Given the description of an element on the screen output the (x, y) to click on. 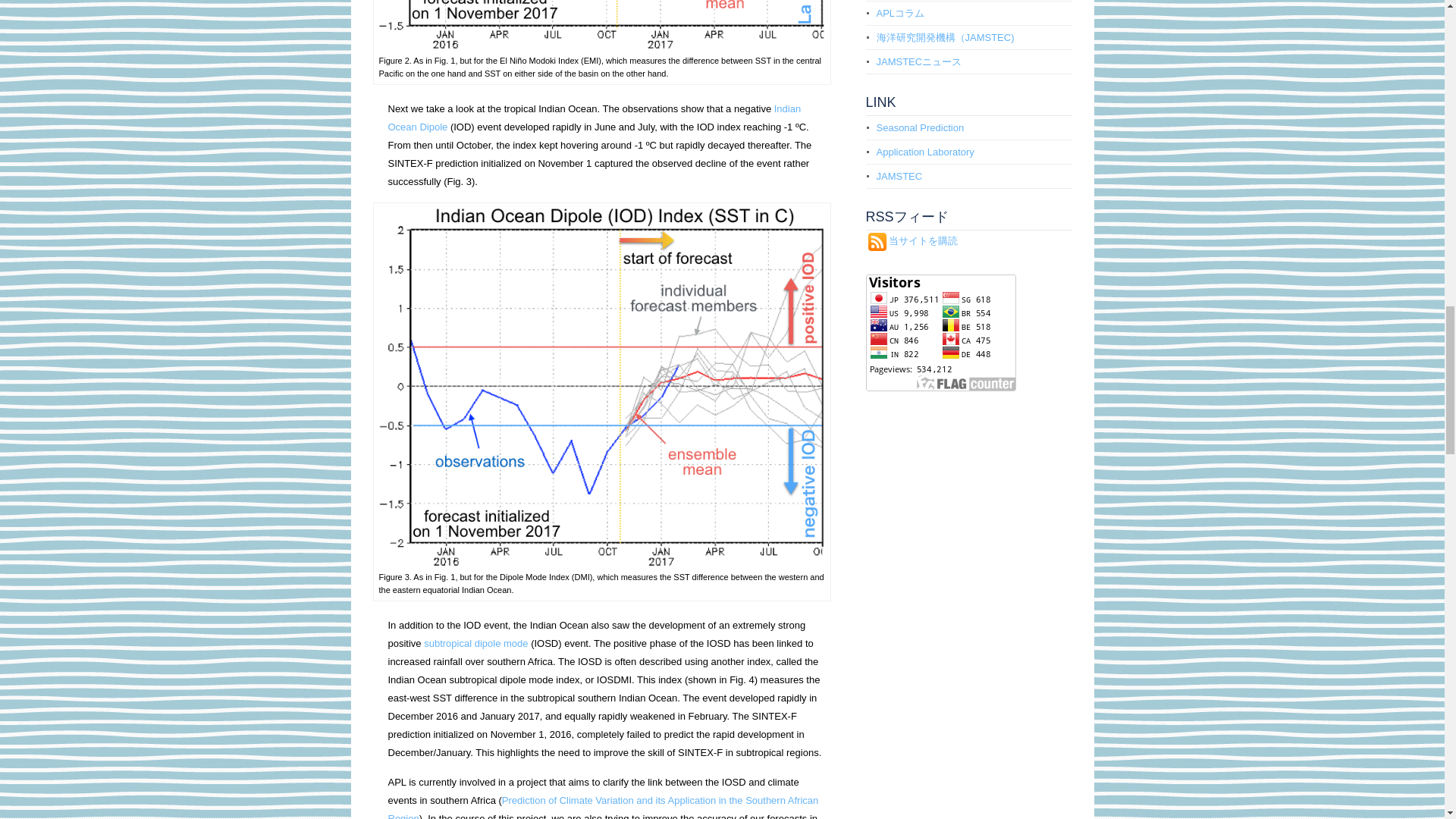
subtropical dipole mode (475, 643)
Indian Ocean Dipole (595, 117)
